Given the description of an element on the screen output the (x, y) to click on. 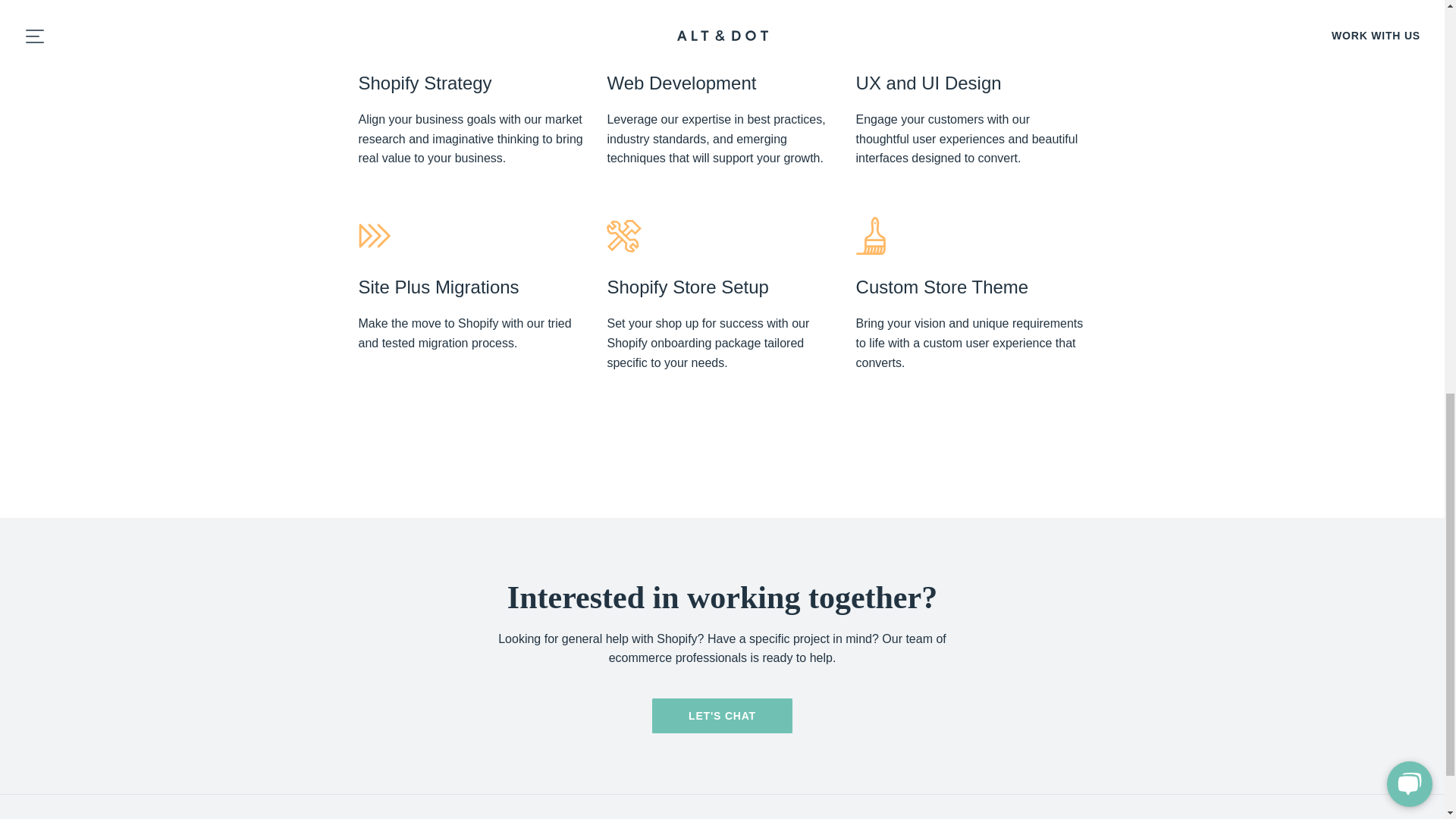
LET'S CHAT (722, 715)
